Given the description of an element on the screen output the (x, y) to click on. 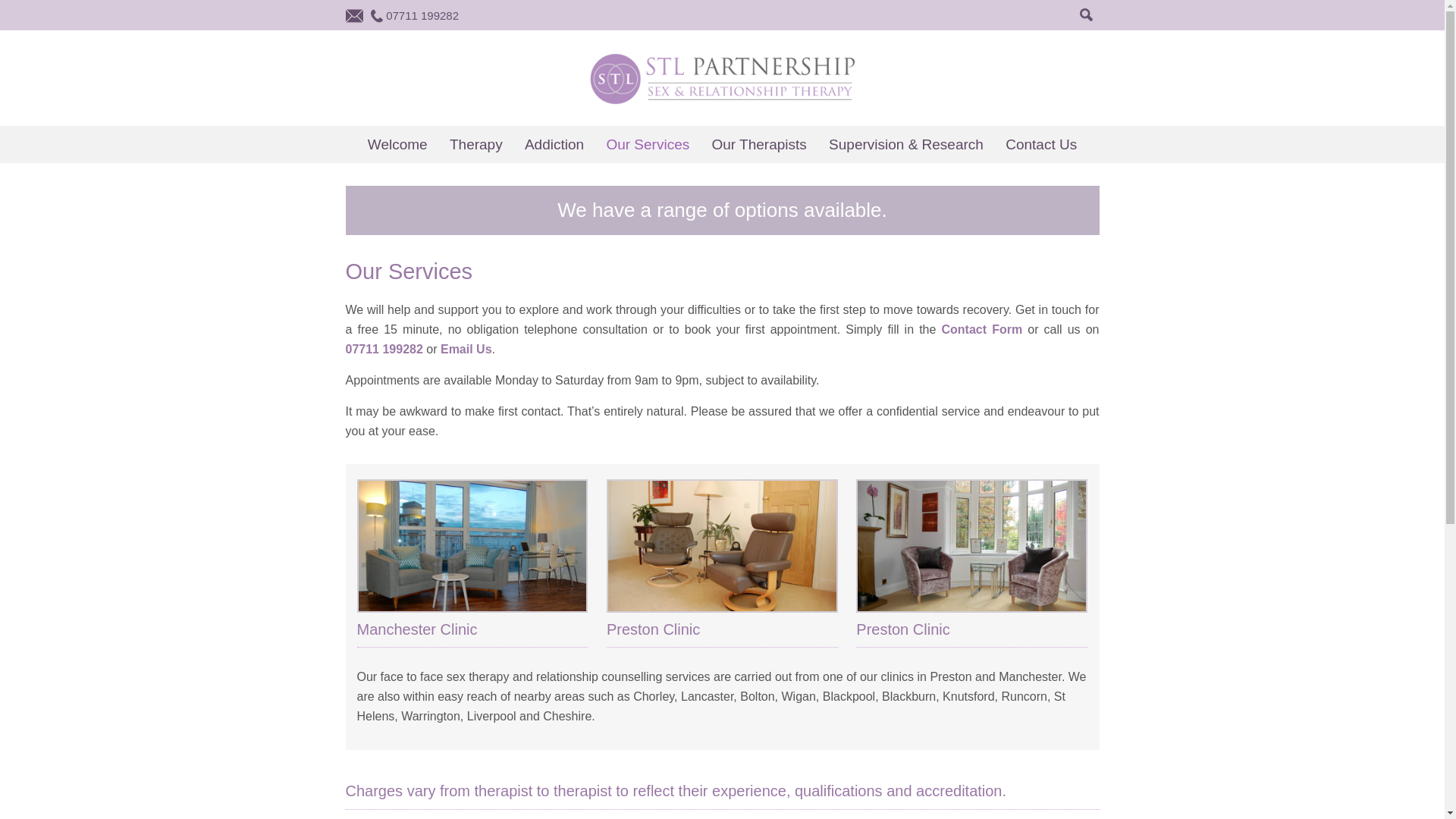
07711 199282 (421, 15)
Welcome (397, 144)
Therapy (476, 144)
Addiction (553, 144)
Our Services (647, 144)
Email Us (466, 349)
Our Therapists (758, 144)
Contact Us (1040, 144)
Contact Form (982, 328)
07711 199282 (384, 349)
